Given the description of an element on the screen output the (x, y) to click on. 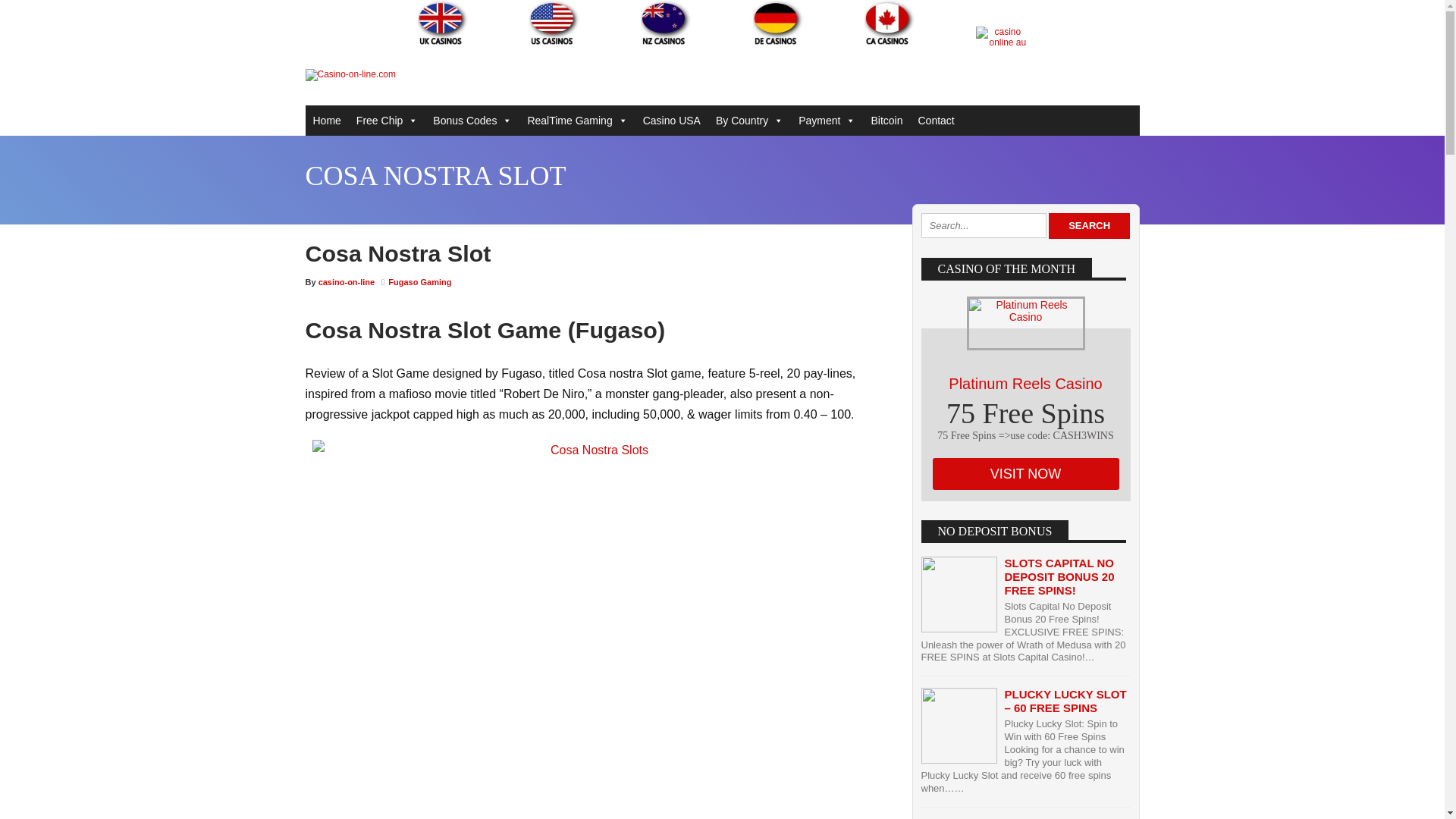
Search (1089, 225)
casino-on-line (346, 281)
CA Casino (889, 22)
DE Casino (777, 22)
RealTime Gaming (576, 120)
US Casinos (554, 22)
Posts by casino-on-line (346, 281)
Free Chip (387, 120)
NZ Casinos (665, 22)
Bonus Codes (472, 120)
